Given the description of an element on the screen output the (x, y) to click on. 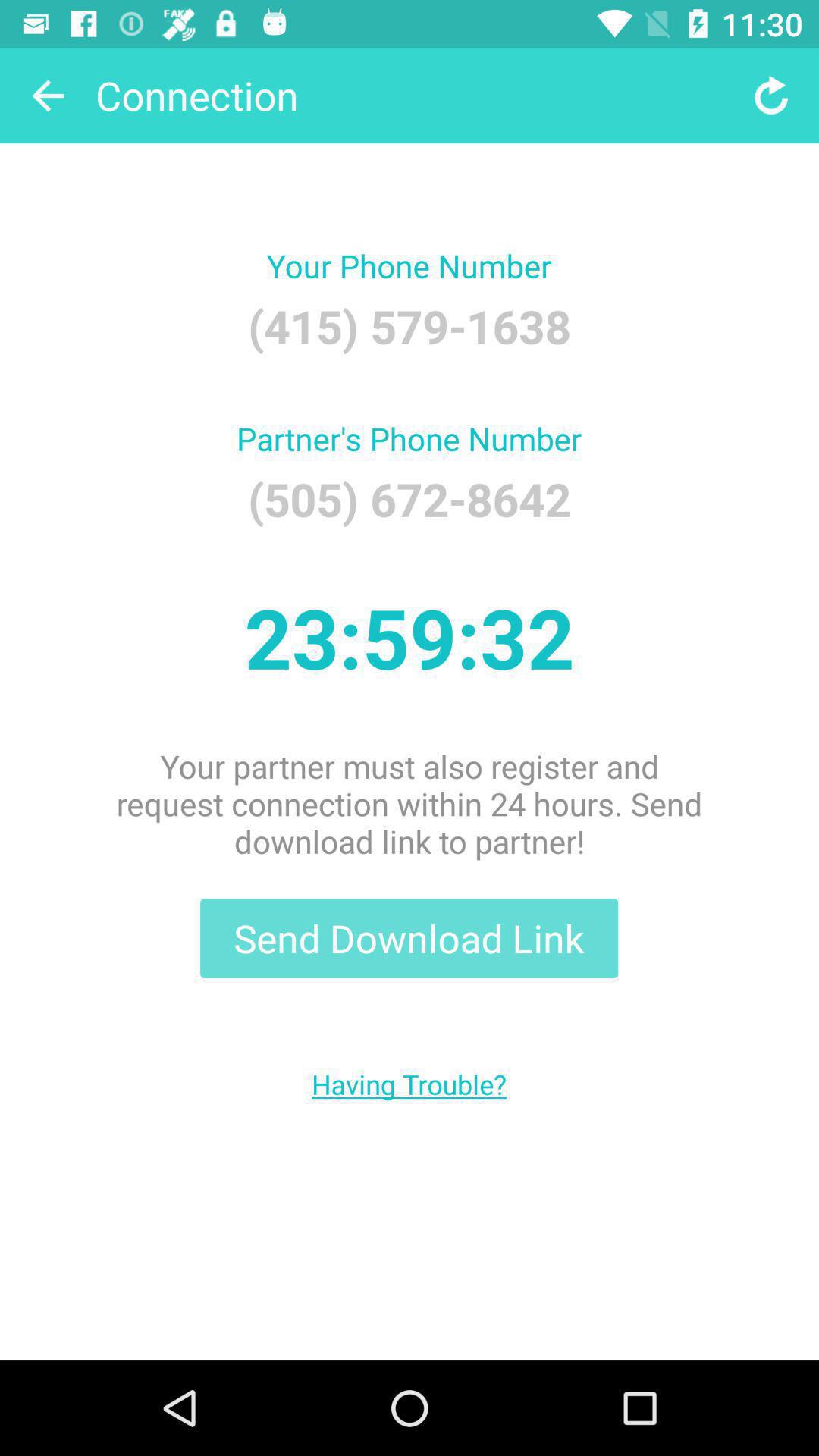
flip until having trouble? (408, 1083)
